Given the description of an element on the screen output the (x, y) to click on. 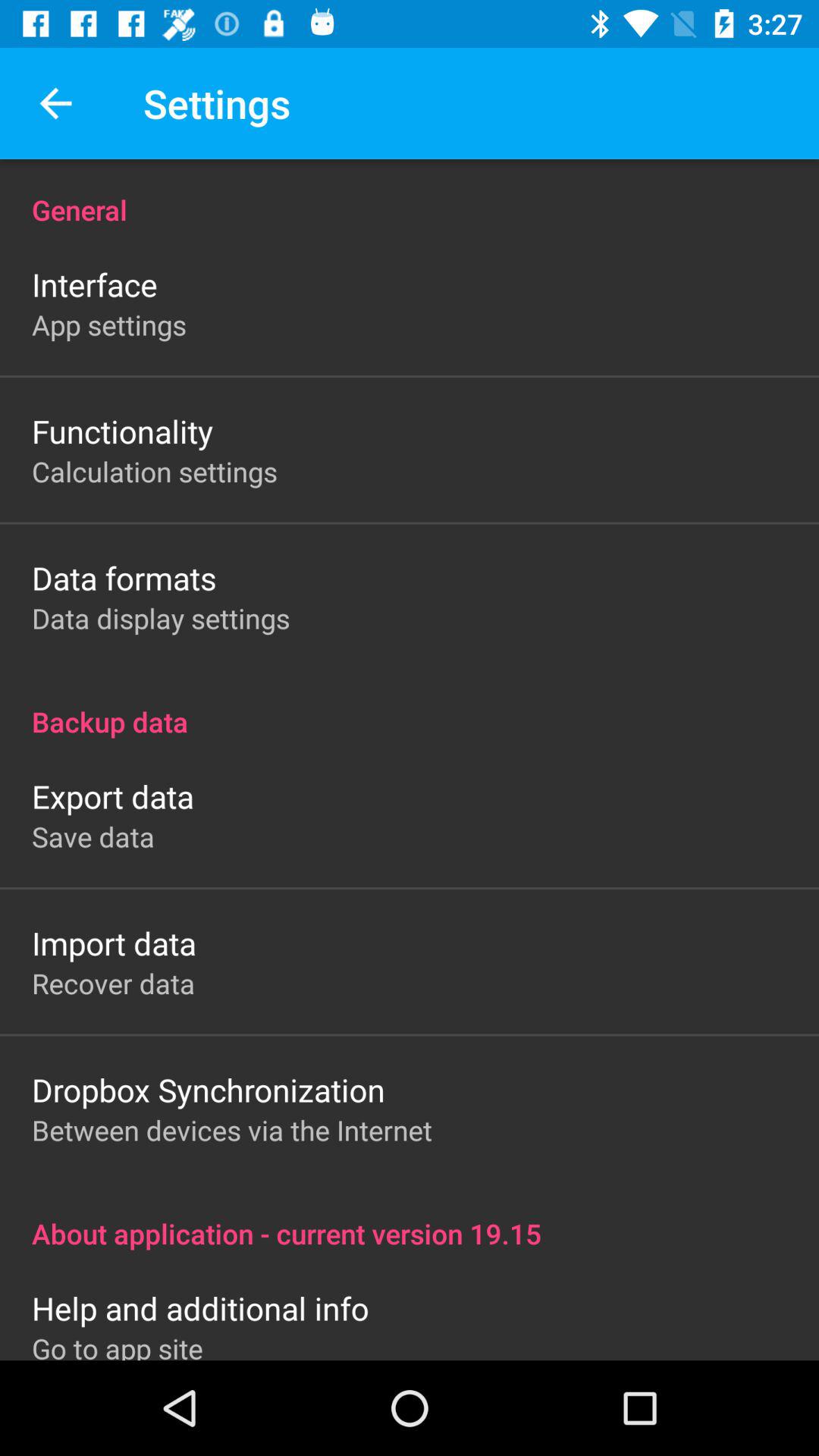
turn on the icon below backup data icon (112, 795)
